Given the description of an element on the screen output the (x, y) to click on. 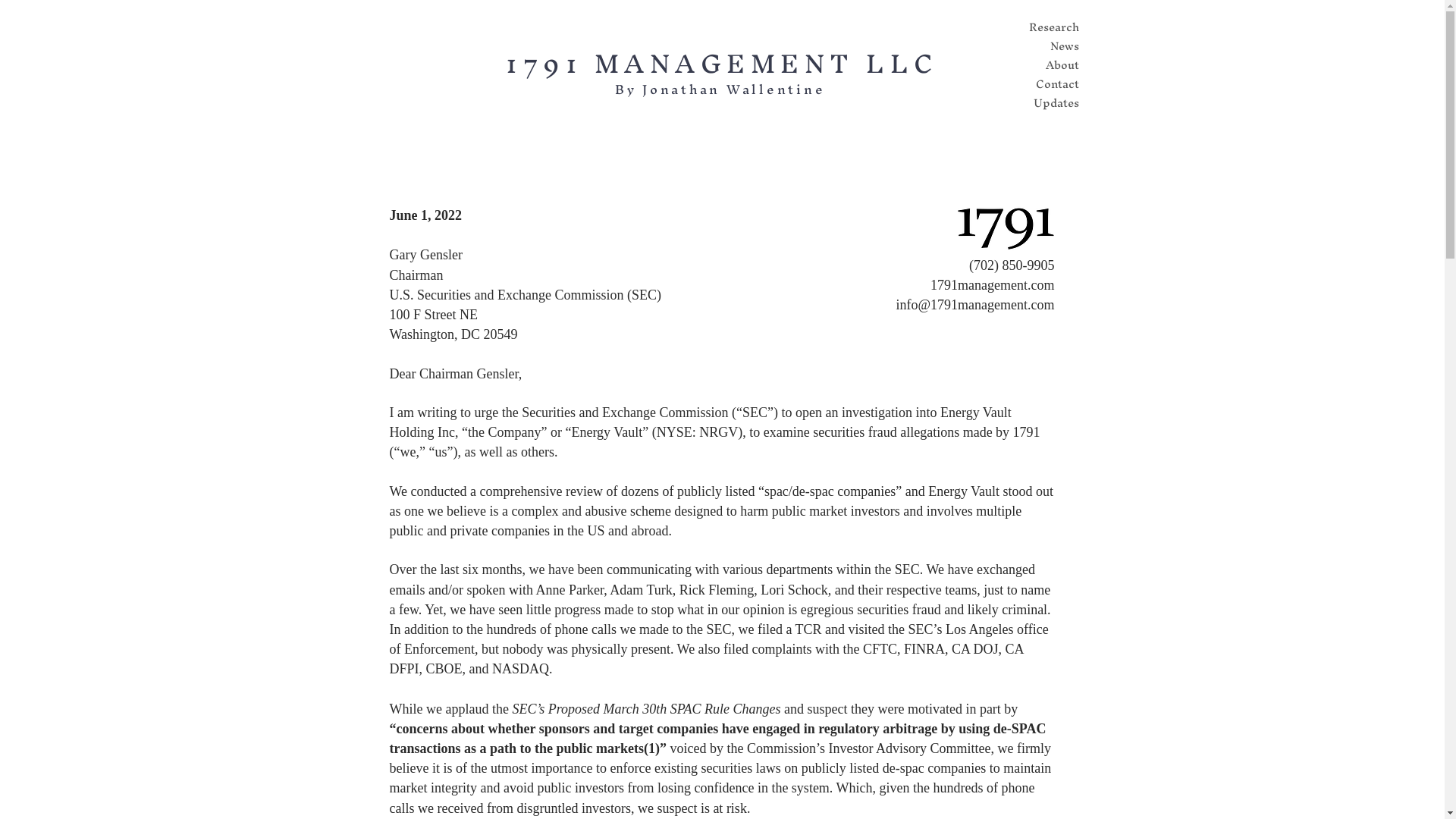
1791 MANAGEMENT LLC Element type: text (721, 63)
Twitter Follow Element type: hover (1093, 141)
Updates Element type: text (1033, 103)
News Element type: text (1033, 46)
Contact Element type: text (1033, 84)
By Jonathan Wallentine Element type: text (720, 88)
About Element type: text (1033, 65)
info@1791management.com Element type: text (974, 304)
Research Element type: text (1033, 27)
